Given the description of an element on the screen output the (x, y) to click on. 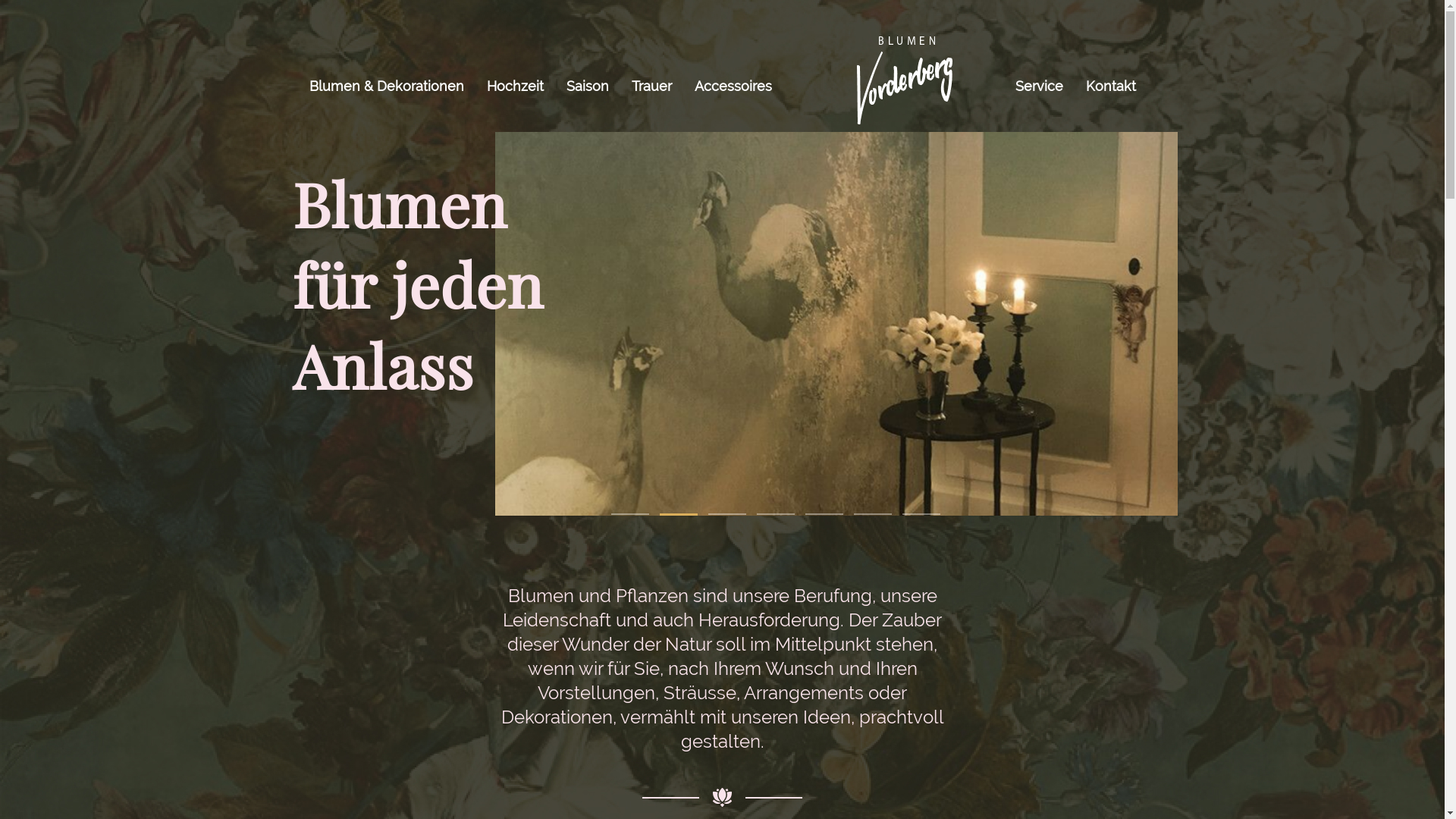
Blumen & Dekorationen Element type: text (385, 86)
Trauer Element type: text (651, 86)
Saison Element type: text (587, 86)
Hochzeit Element type: text (514, 86)
Accessoires Element type: text (732, 86)
Service Element type: text (1039, 86)
Kontakt Element type: text (1109, 86)
